Given the description of an element on the screen output the (x, y) to click on. 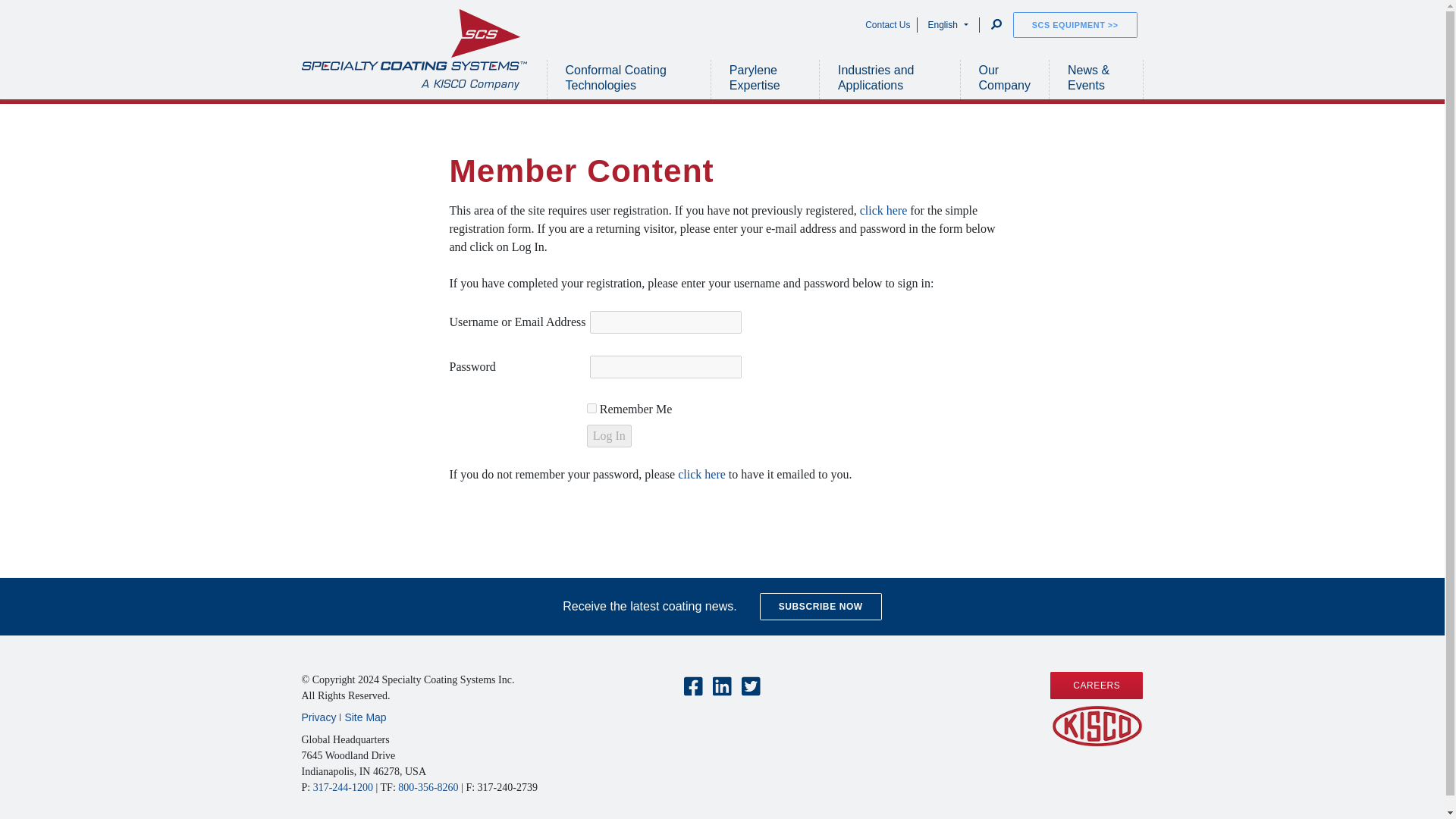
English (947, 24)
Contact Us (887, 24)
forever (591, 408)
Facebook (693, 687)
Log In (608, 436)
Twitter (750, 687)
LinkedIn (722, 687)
Conformal Coating Technologies (628, 79)
Parylene Expertise (764, 79)
